Given the description of an element on the screen output the (x, y) to click on. 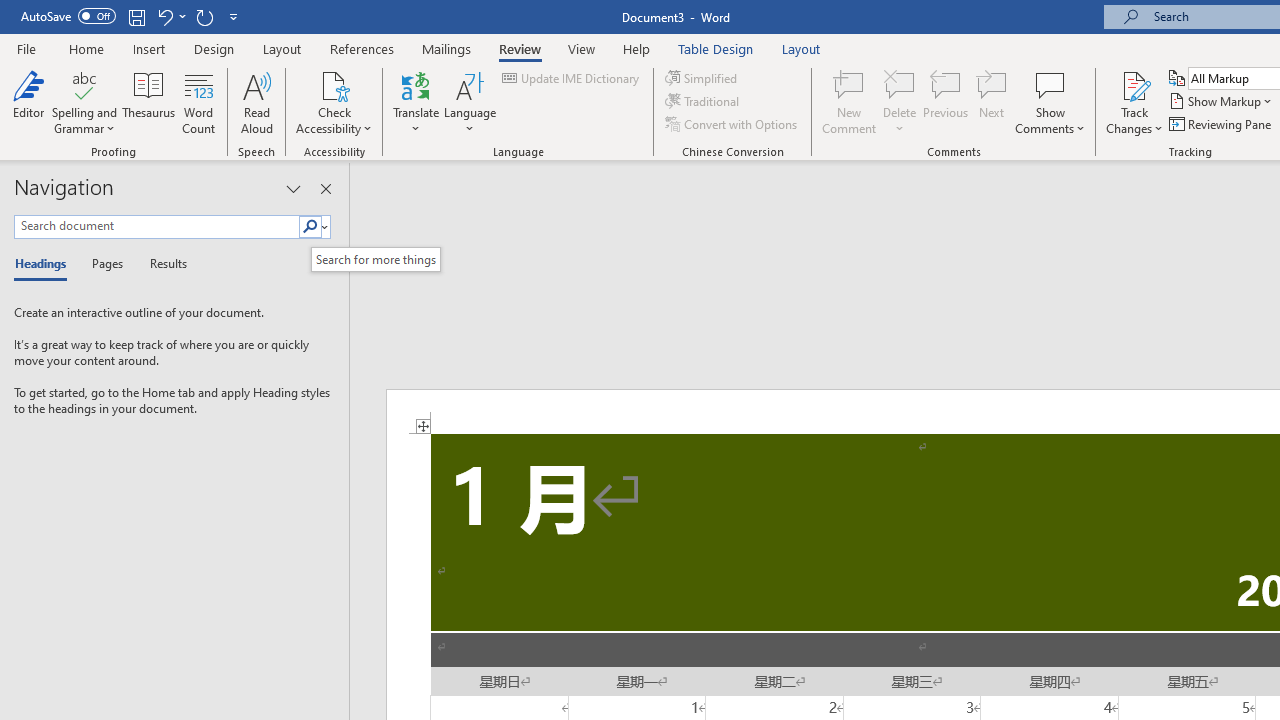
Show Comments (1050, 102)
Read Aloud (256, 102)
Traditional (703, 101)
Convert with Options... (732, 124)
Show Markup (1222, 101)
Show Comments (1050, 84)
Track Changes (1134, 102)
